Given the description of an element on the screen output the (x, y) to click on. 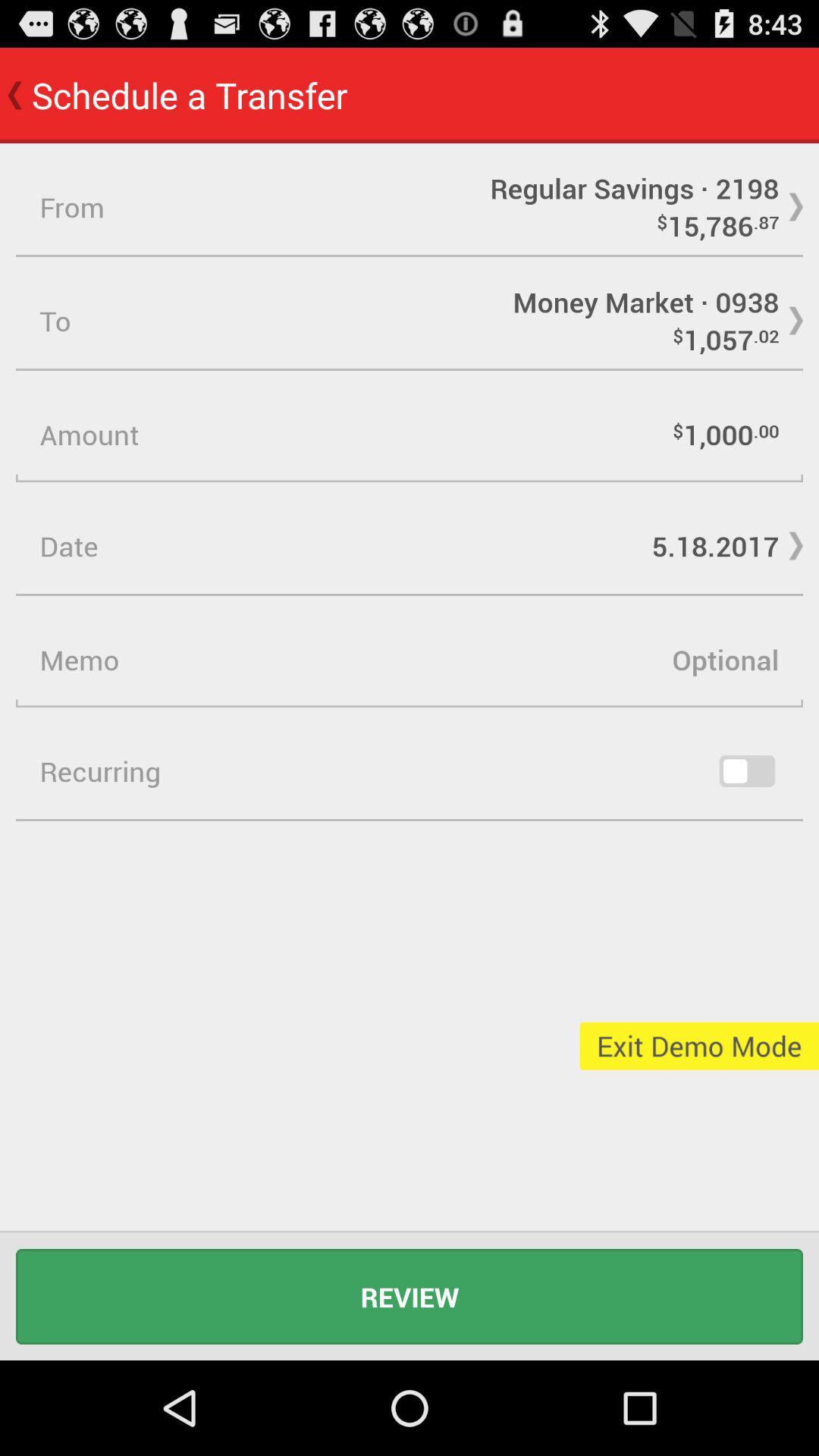
on/off button (747, 771)
